Given the description of an element on the screen output the (x, y) to click on. 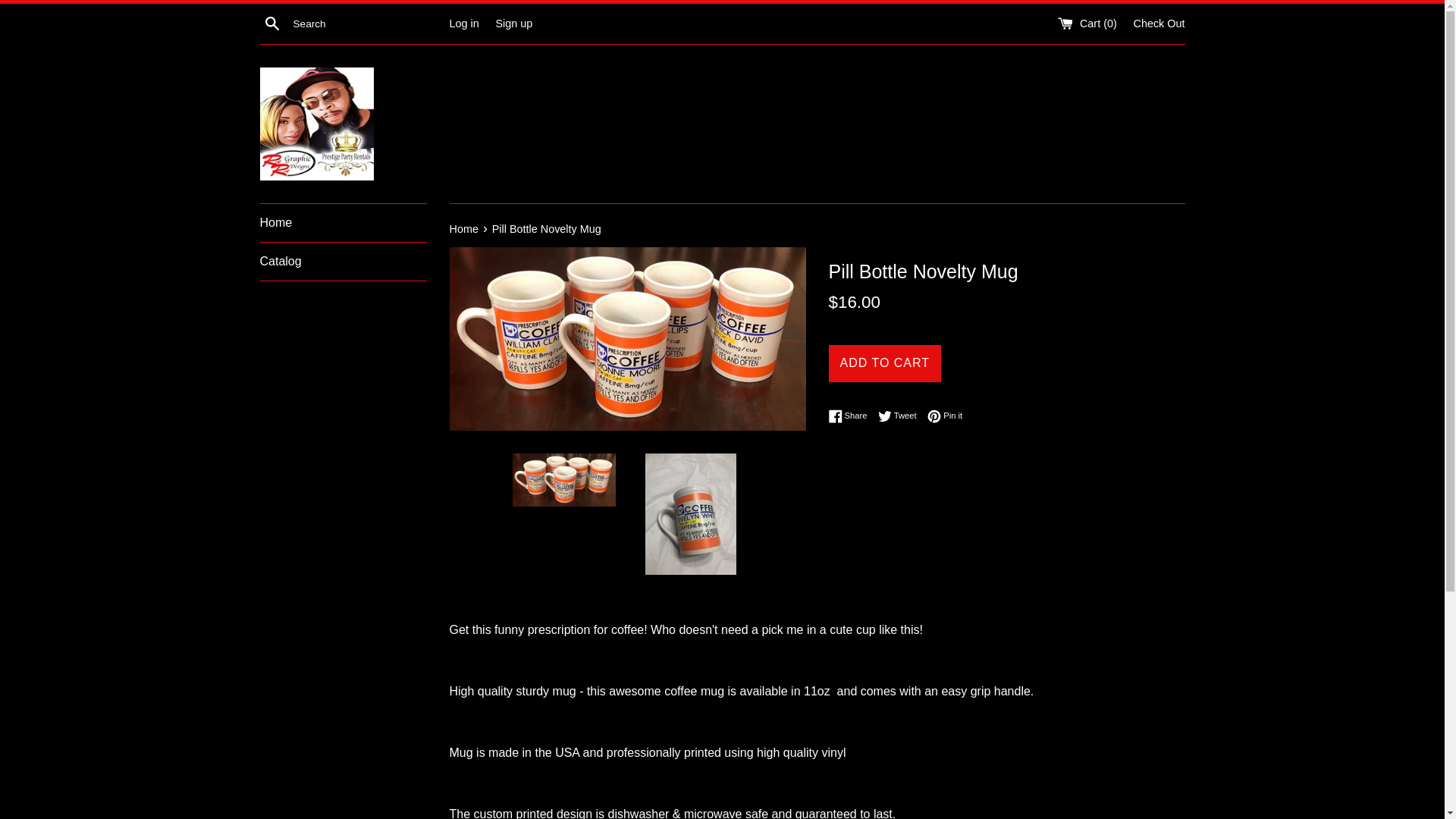
Back to the frontpage (464, 228)
Search (271, 22)
Log in (463, 22)
Catalog (342, 261)
Pin on Pinterest (900, 416)
Tweet on Twitter (944, 416)
Sign up (851, 416)
Home (900, 416)
